Given the description of an element on the screen output the (x, y) to click on. 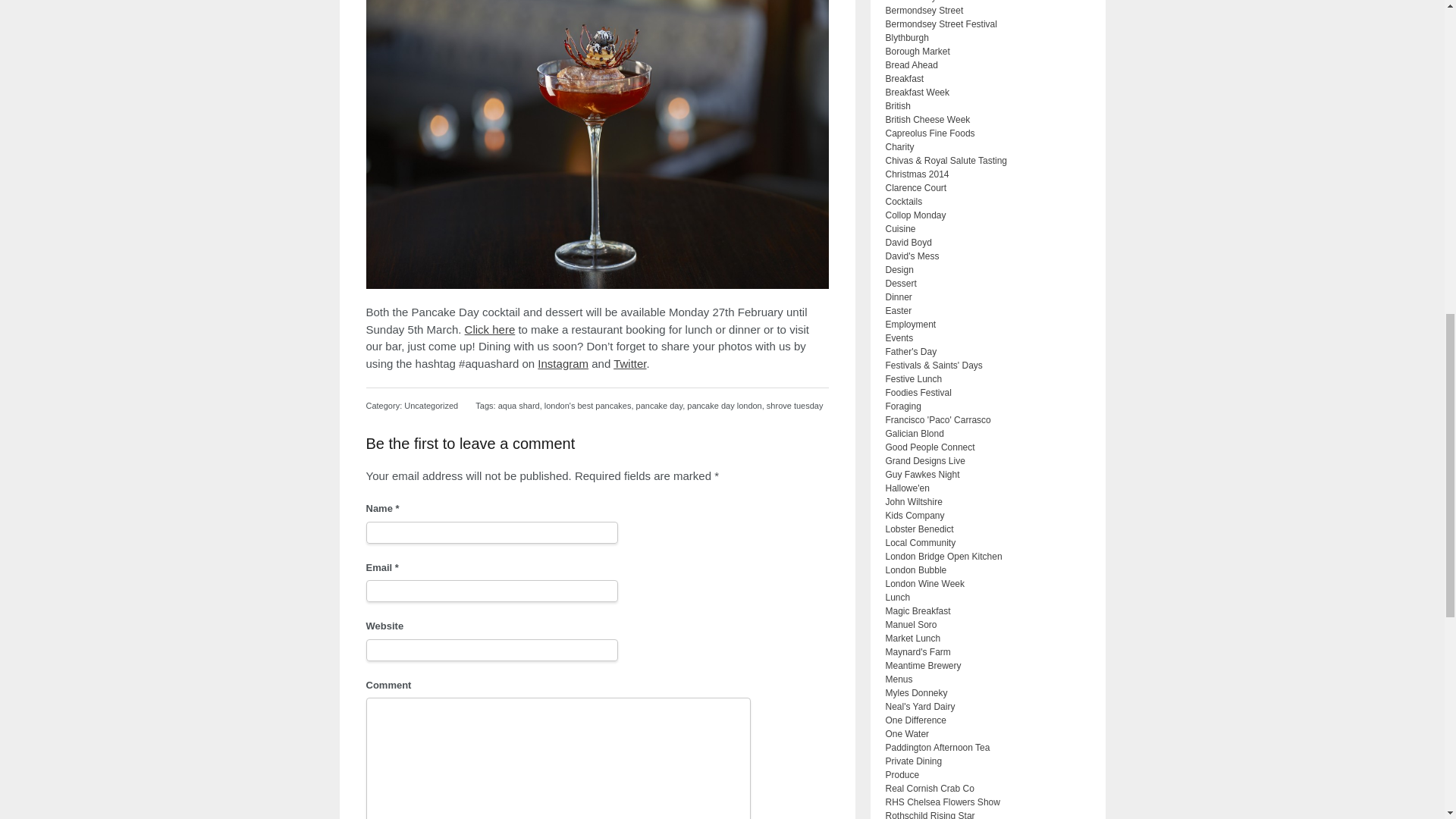
pancake day (659, 405)
Twitter (629, 363)
aqua shard (518, 405)
pancake day london (724, 405)
shrove tuesday (795, 405)
Twitter (629, 363)
Instagram (562, 363)
Instagram (562, 363)
london's best pancakes (587, 405)
Click here (489, 328)
